Given the description of an element on the screen output the (x, y) to click on. 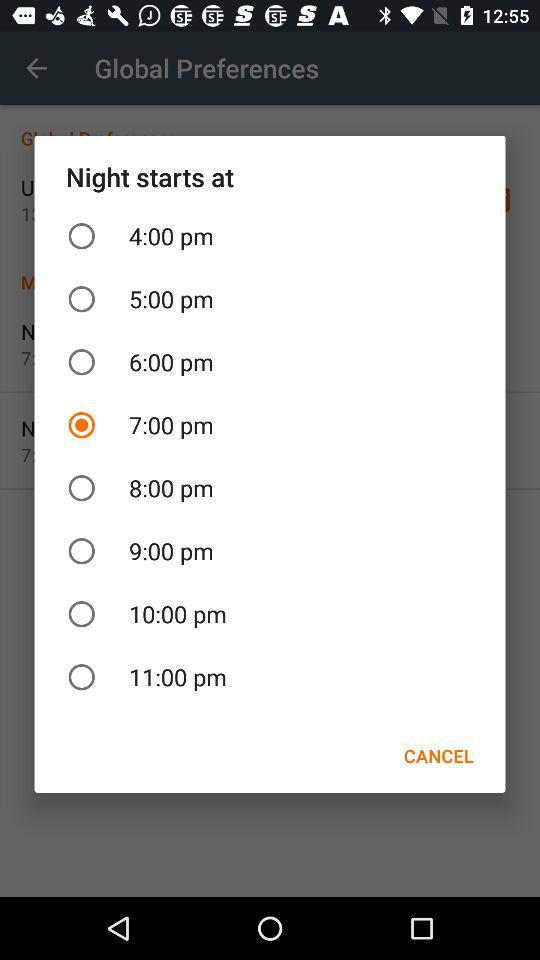
open the cancel icon (438, 755)
